Given the description of an element on the screen output the (x, y) to click on. 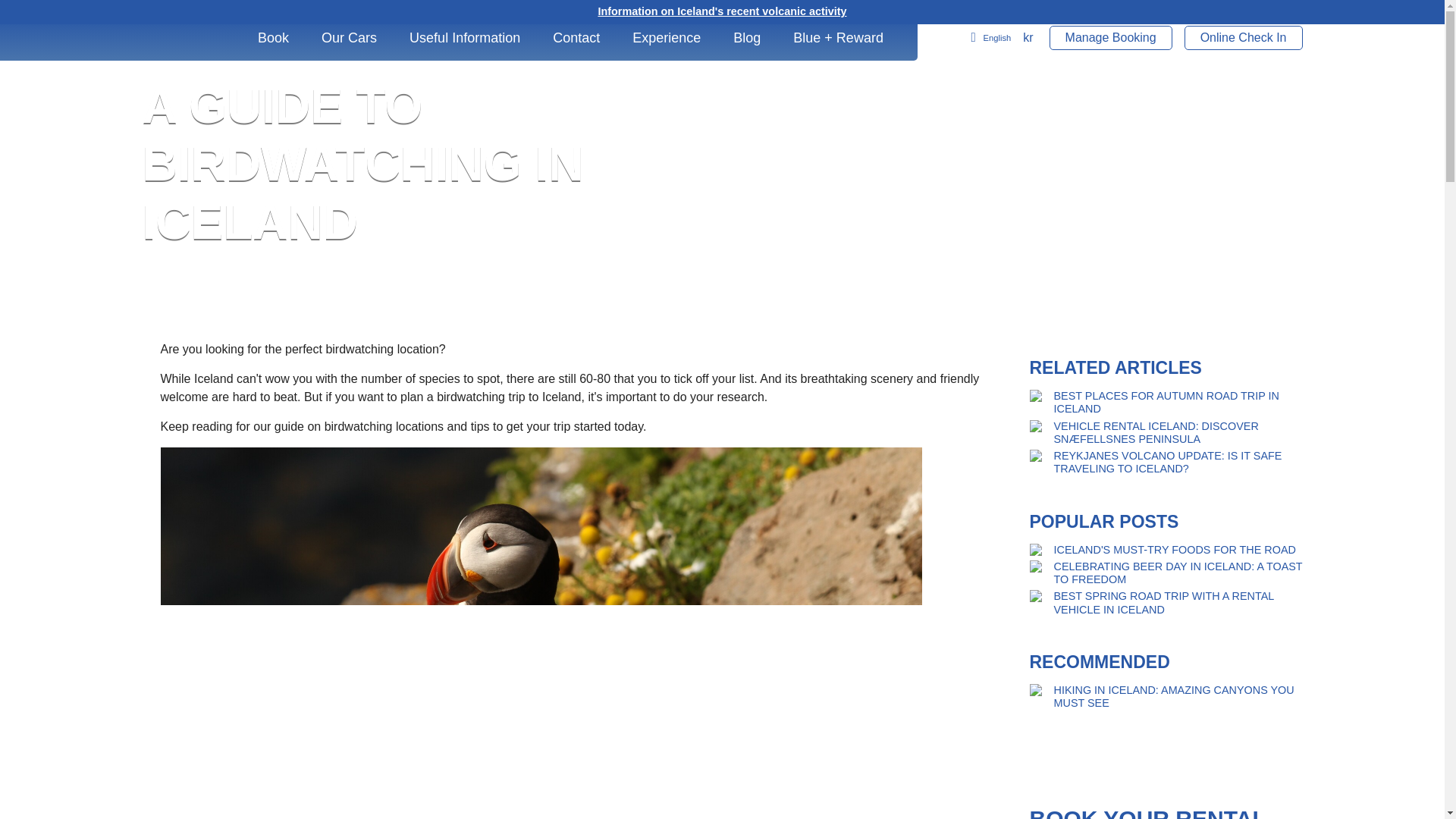
Useful Information (475, 37)
Navbar (176, 37)
Our Cars (359, 37)
Experience (676, 37)
Contact (586, 37)
Blog (756, 37)
Information on Iceland's recent volcanic activity (720, 10)
Book (283, 37)
